Given the description of an element on the screen output the (x, y) to click on. 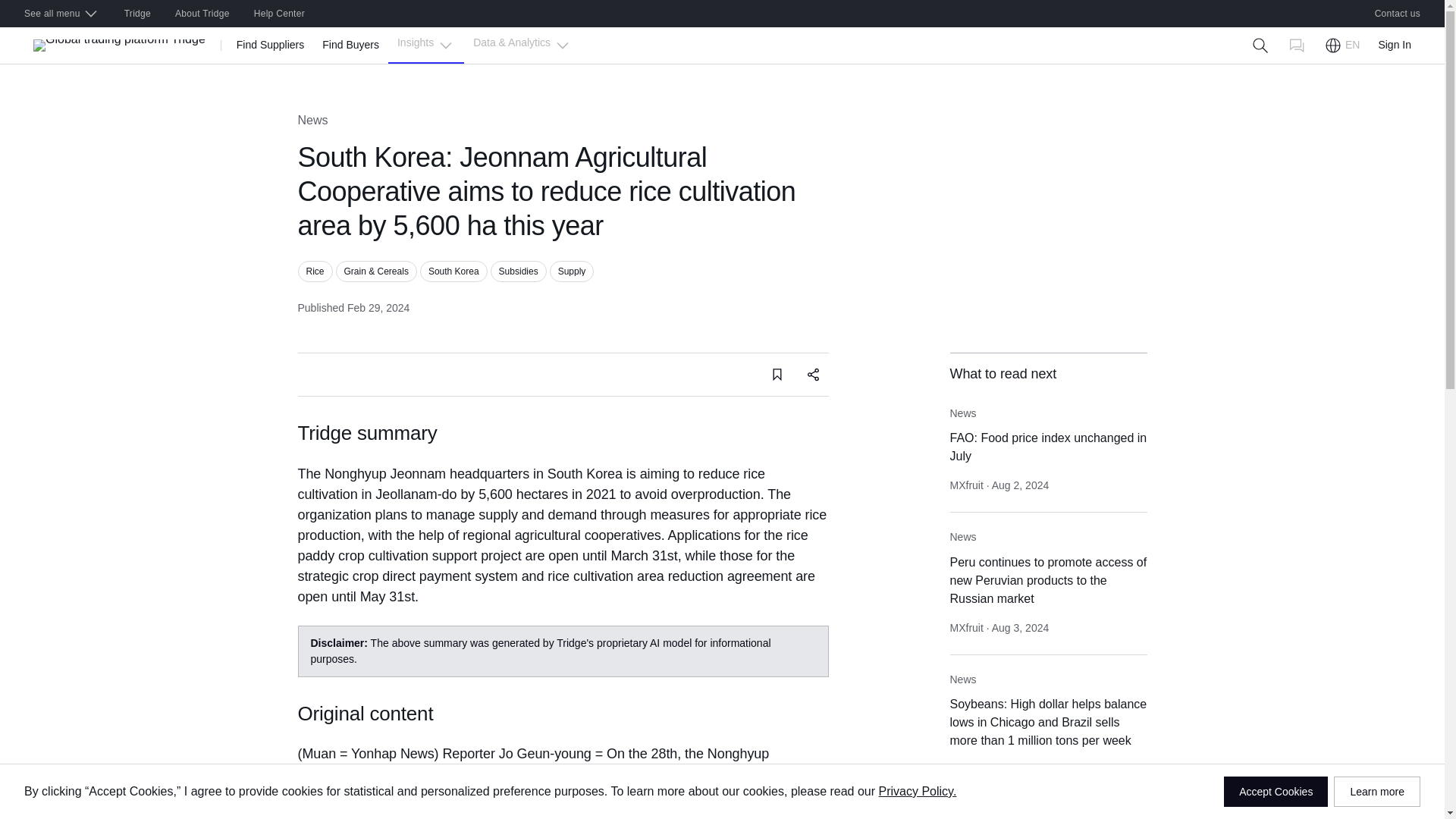
Help Center (279, 13)
Tridge (137, 13)
Contact us (1397, 13)
About Tridge (202, 13)
See all menu (61, 13)
